Given the description of an element on the screen output the (x, y) to click on. 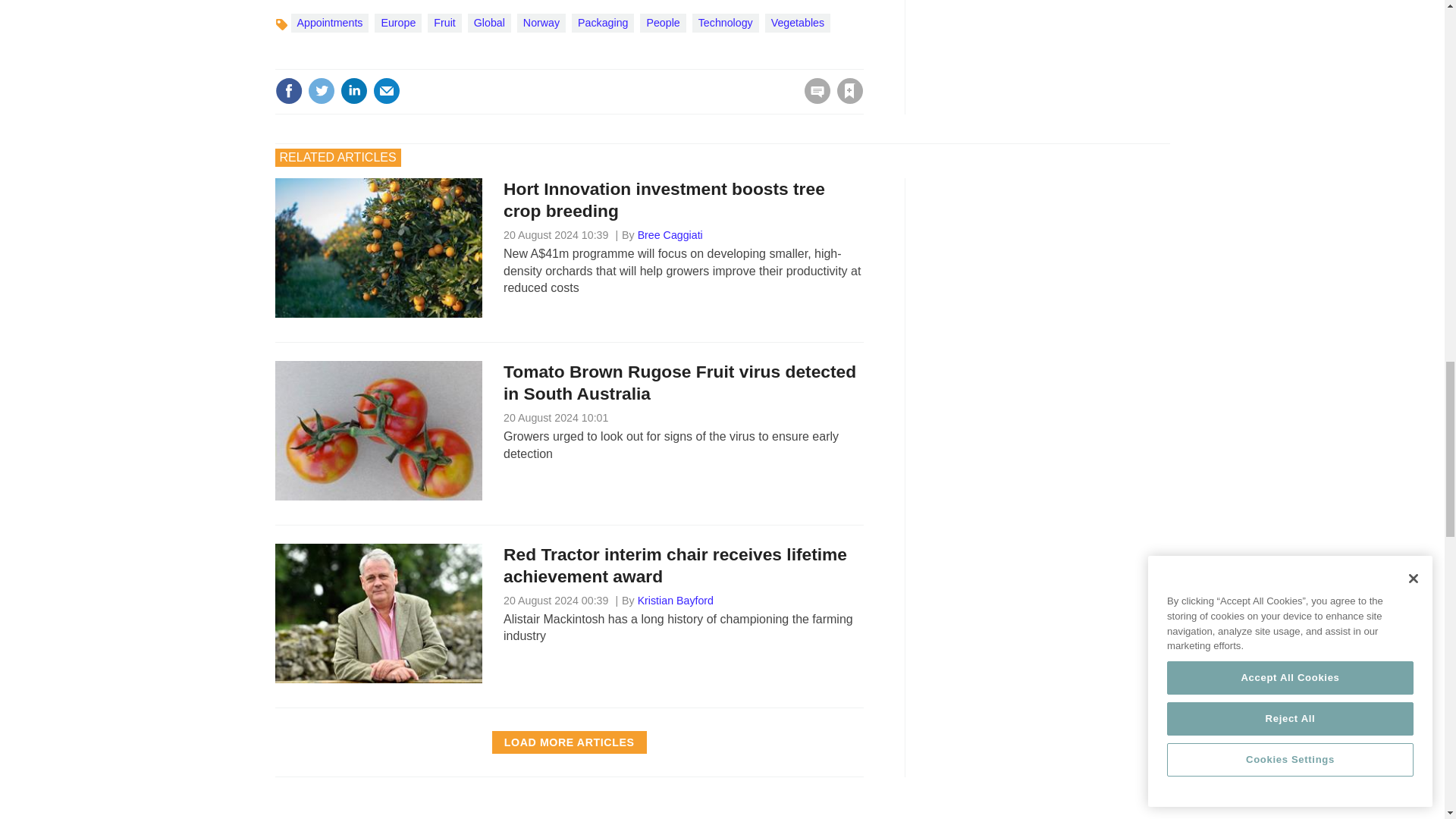
Share this on Twitter (320, 90)
No comments (812, 99)
Share this on Facebook (288, 90)
Email this article (386, 90)
Share this on Linked in (352, 90)
